Given the description of an element on the screen output the (x, y) to click on. 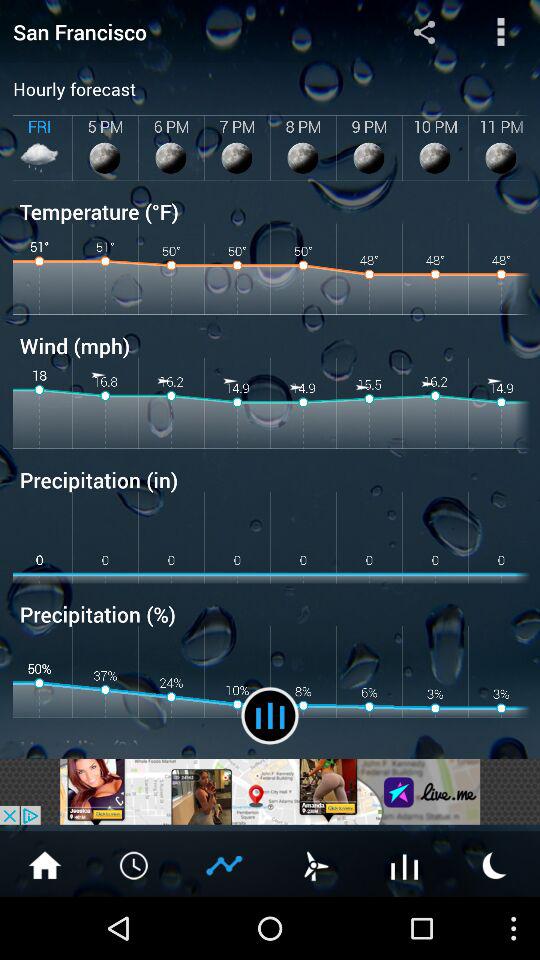
open the item to the right of the humidity (%) app (269, 715)
